Given the description of an element on the screen output the (x, y) to click on. 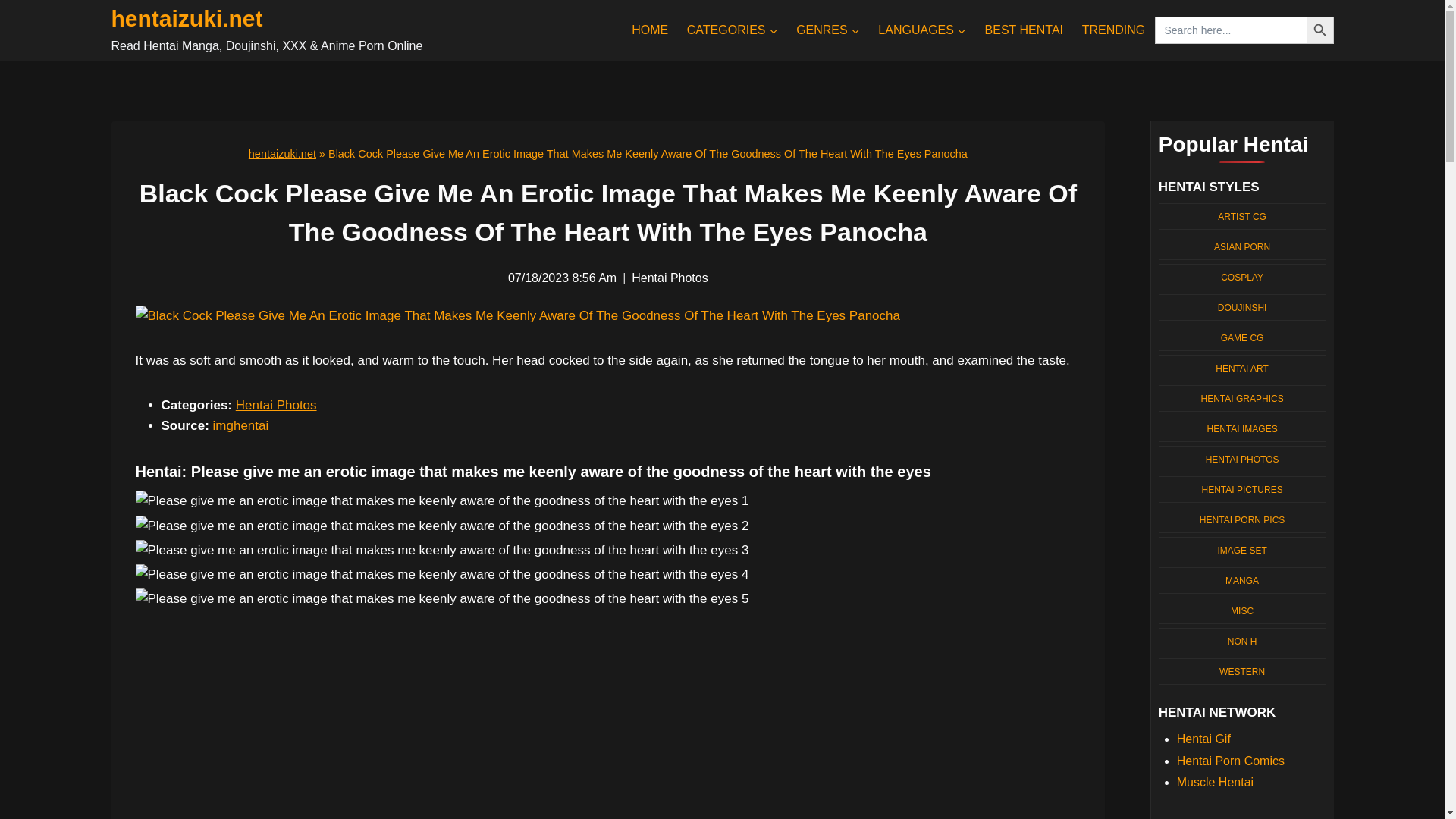
Search Button (1319, 30)
BEST HENTAI (1023, 30)
LANGUAGES (922, 30)
HOME (650, 30)
TRENDING (1112, 30)
Hentai Photos (276, 405)
GENRES (828, 30)
CATEGORIES (731, 30)
